Given the description of an element on the screen output the (x, y) to click on. 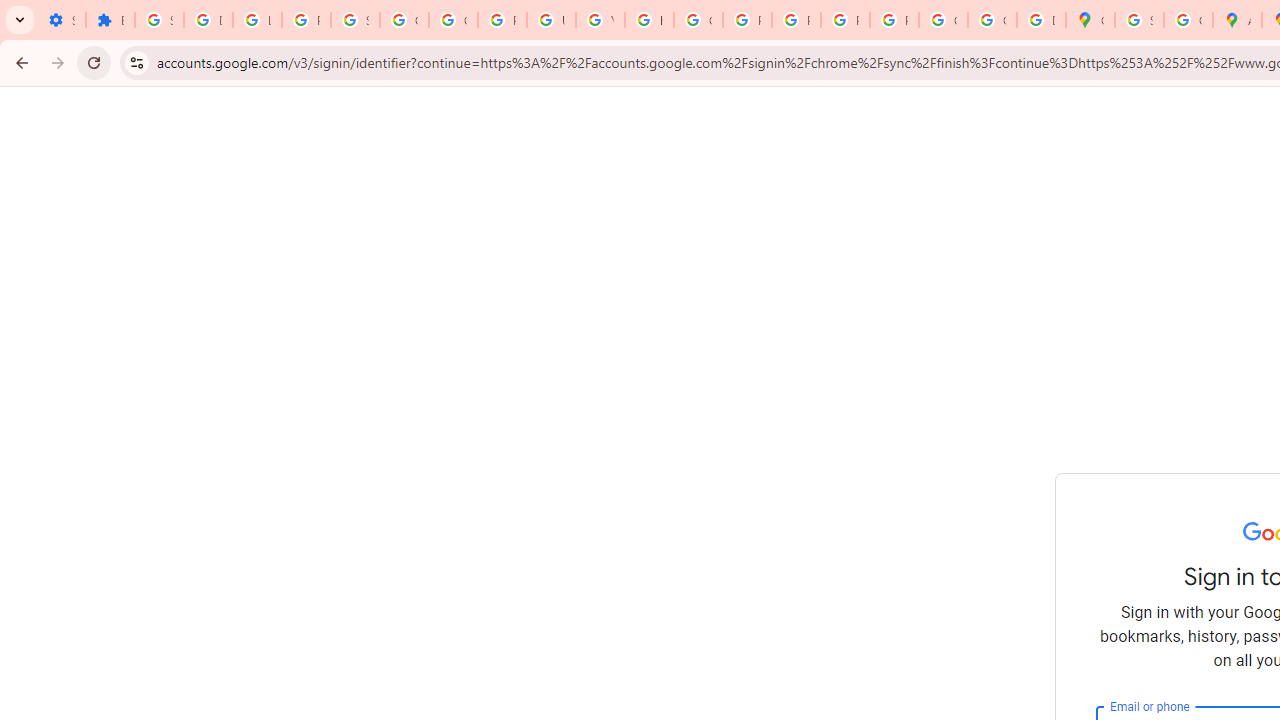
https://scholar.google.com/ (649, 20)
Delete photos & videos - Computer - Google Photos Help (208, 20)
Privacy Help Center - Policies Help (747, 20)
Sign in - Google Accounts (1138, 20)
Settings - On startup (61, 20)
